Given the description of an element on the screen output the (x, y) to click on. 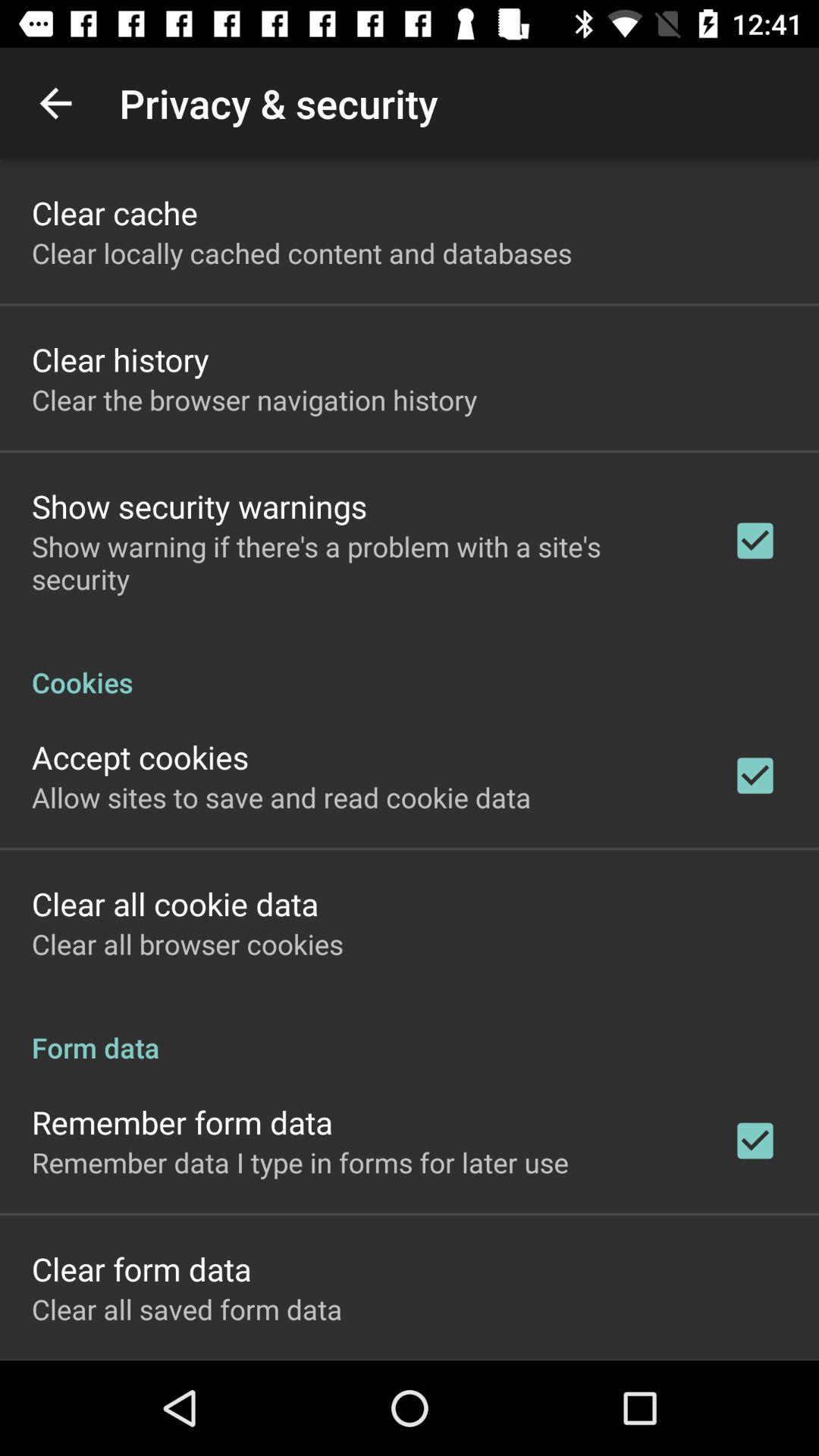
click the item above the clear history app (301, 252)
